Given the description of an element on the screen output the (x, y) to click on. 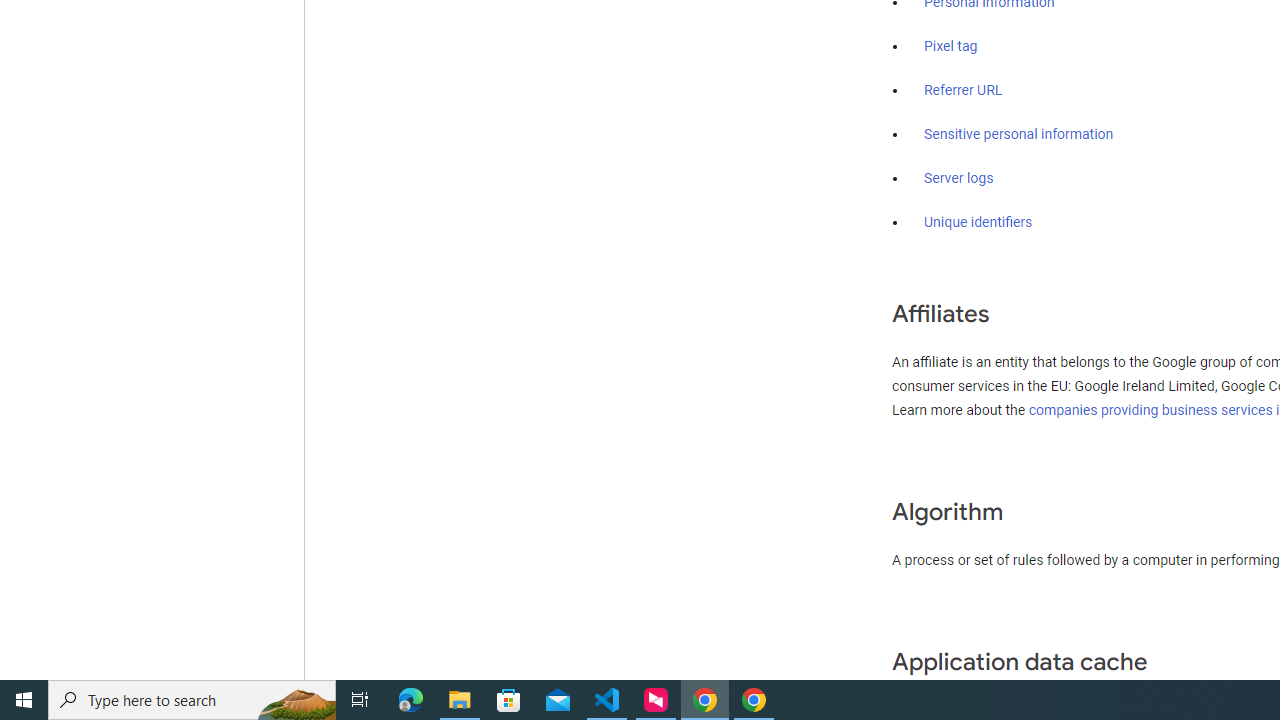
Unique identifiers (978, 222)
Sensitive personal information (1018, 134)
Server logs (959, 178)
Referrer URL (963, 91)
Pixel tag (950, 47)
